Given the description of an element on the screen output the (x, y) to click on. 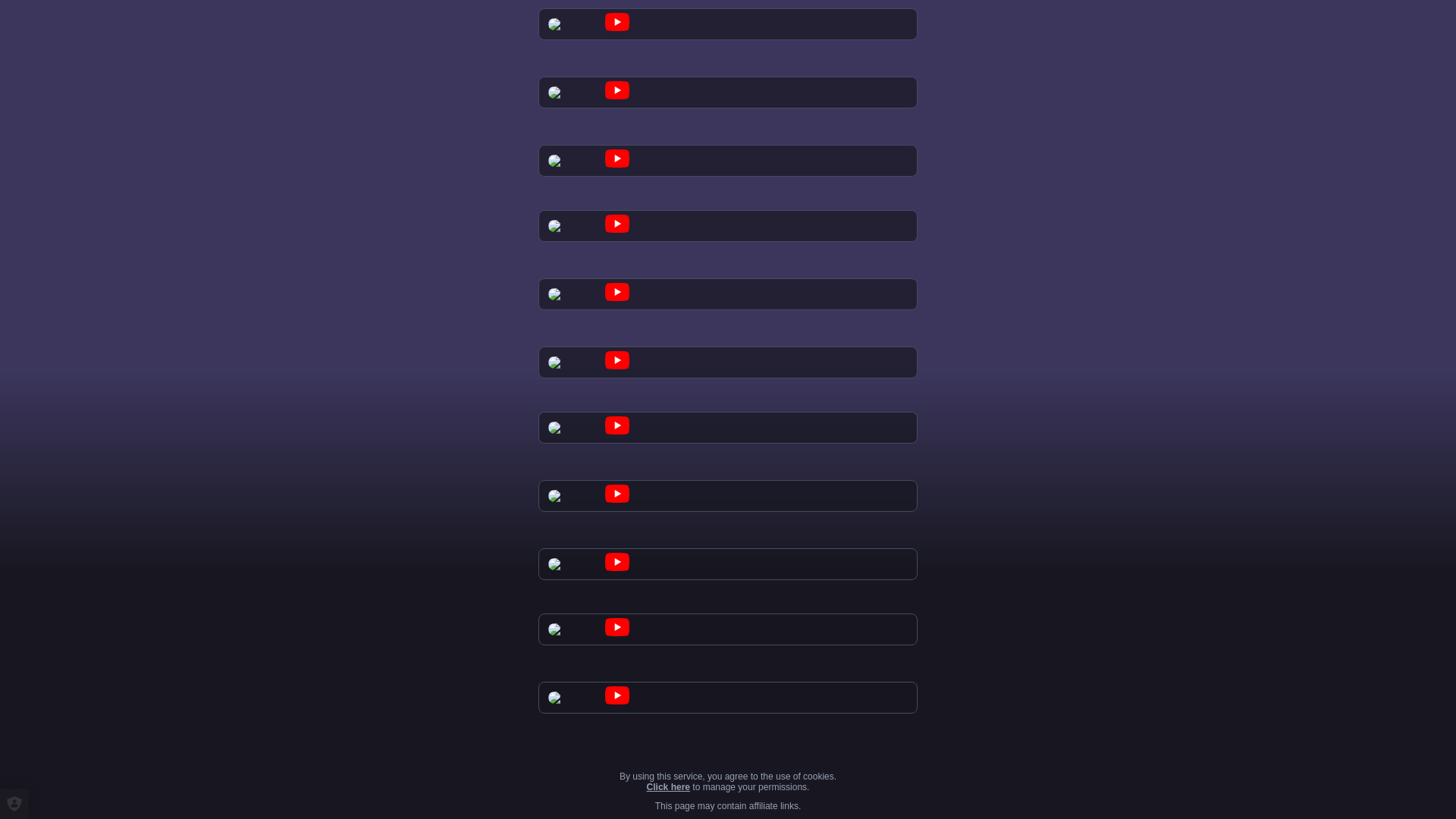
Click here (668, 787)
